Given the description of an element on the screen output the (x, y) to click on. 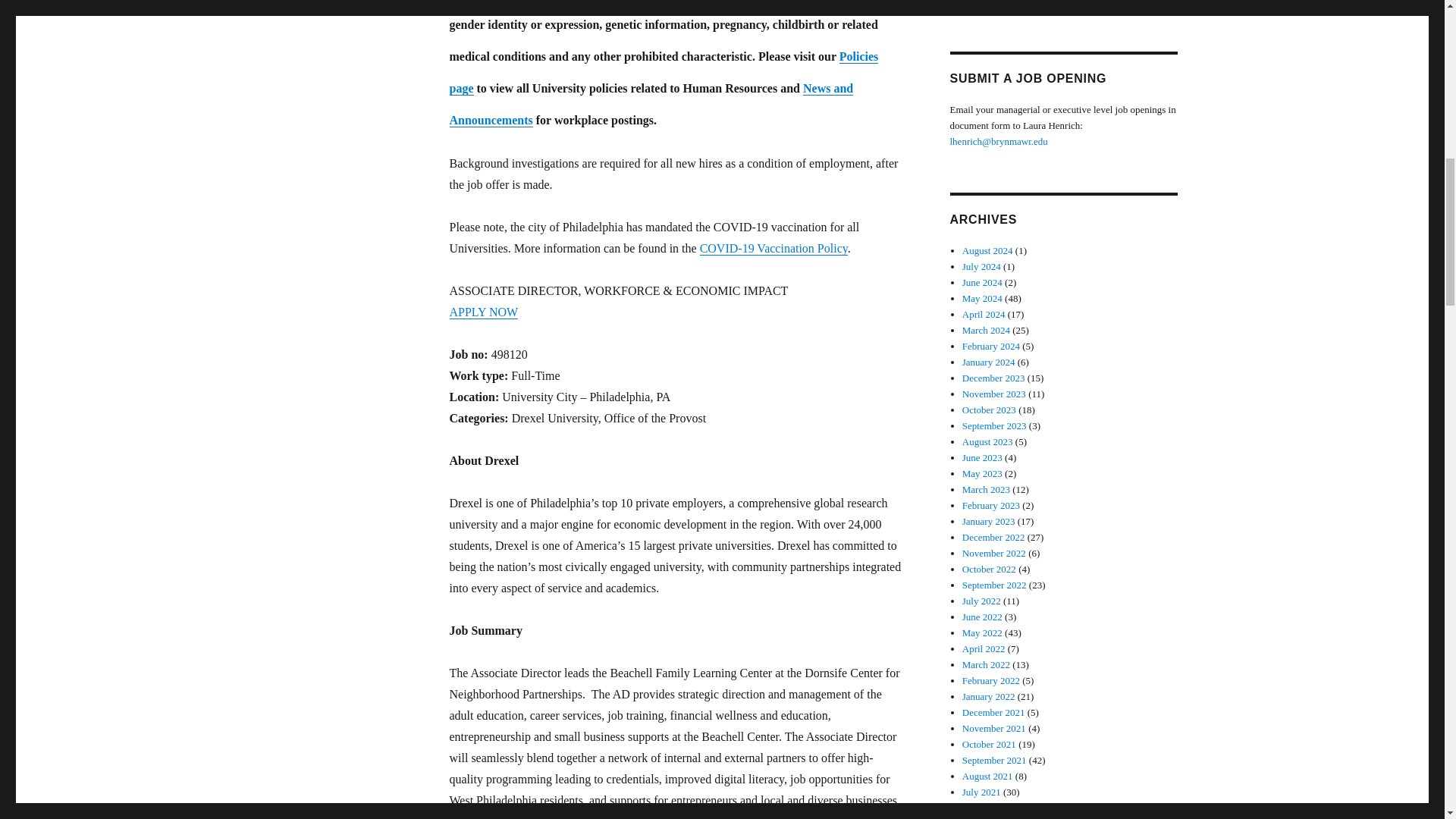
February 2023 (991, 505)
October 2022 (989, 568)
April 2024 (984, 314)
August 2024 (987, 250)
December 2023 (993, 378)
August 2023 (987, 441)
March 2023 (986, 489)
Policies page (662, 72)
May 2023 (982, 473)
News and Announcements (650, 103)
